Given the description of an element on the screen output the (x, y) to click on. 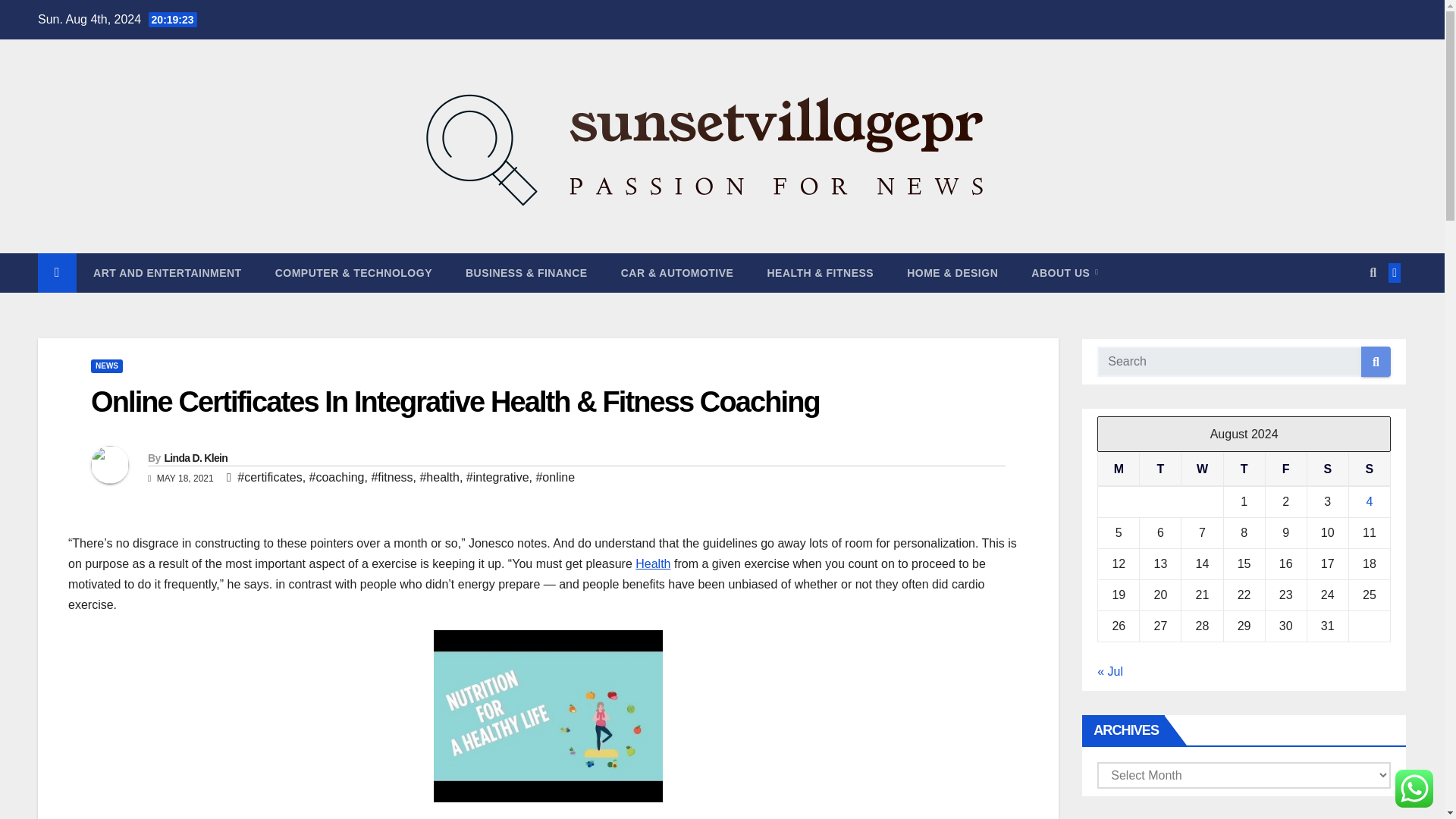
ART AND ENTERTAINMENT (168, 272)
Linda D. Klein (195, 458)
Art And Entertainment (168, 272)
NEWS (106, 366)
About Us (1064, 272)
Health (651, 563)
ABOUT US (1064, 272)
